Given the description of an element on the screen output the (x, y) to click on. 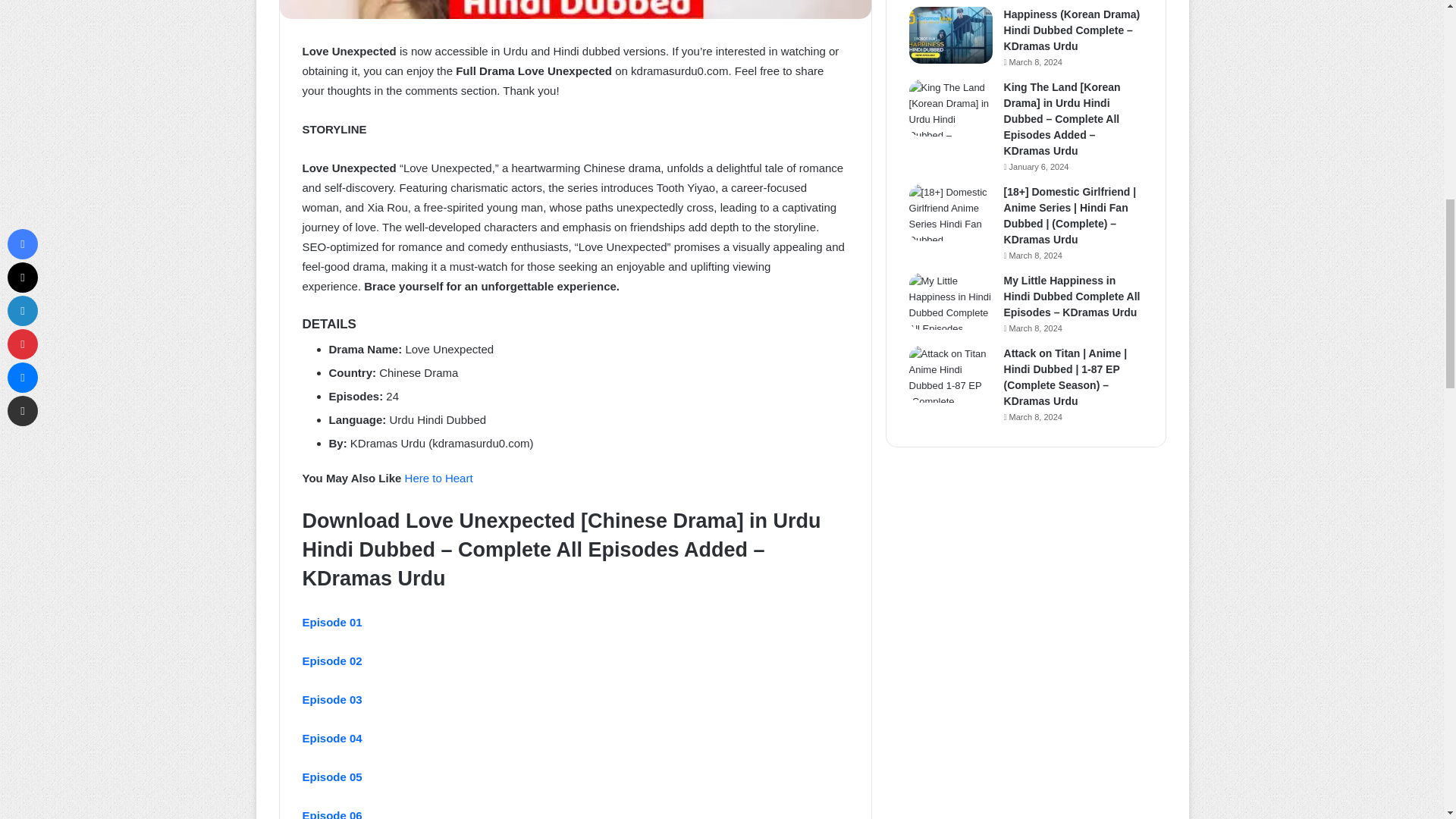
Episode 02 (331, 660)
Episode 04 (331, 738)
Episode 06 (331, 814)
Episode 03 (331, 698)
Episode 05 (331, 776)
Here to Heart (438, 477)
Episode 01 (331, 621)
